Given the description of an element on the screen output the (x, y) to click on. 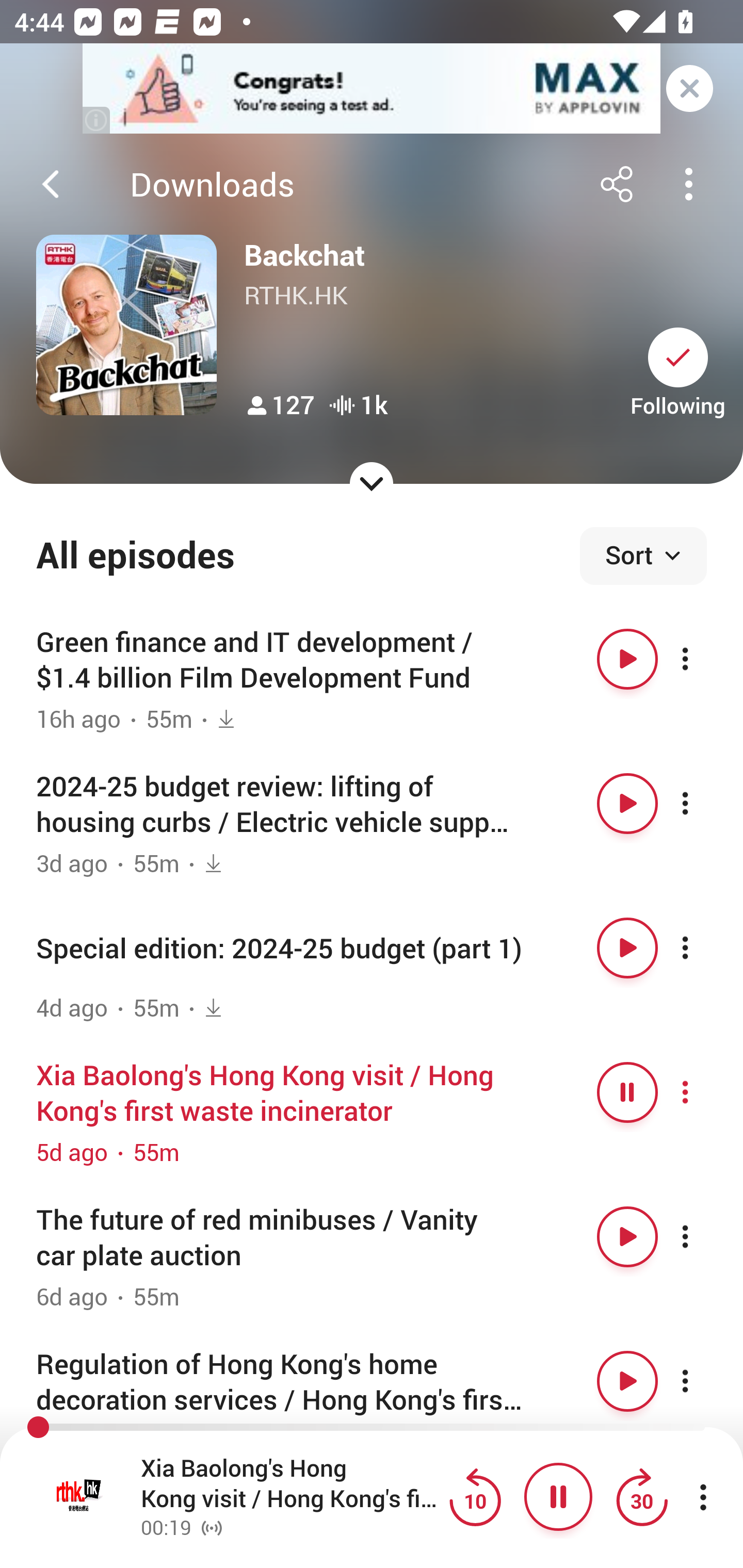
app-monetization (371, 88)
(i) (96, 119)
Back (50, 184)
Unsubscribe button (677, 357)
Sort episodes Sort (643, 555)
Play button (627, 659)
More options (703, 659)
Play button (627, 803)
More options (703, 803)
Play button (627, 947)
More options (703, 947)
Pause button (627, 1092)
More options (703, 1092)
Play button (627, 1236)
More options (703, 1236)
Play button (627, 1381)
More options (703, 1381)
Open fullscreen player (79, 1497)
More player controls (703, 1497)
Pause button (558, 1496)
Jump back (475, 1497)
Jump forward (641, 1497)
